Given the description of an element on the screen output the (x, y) to click on. 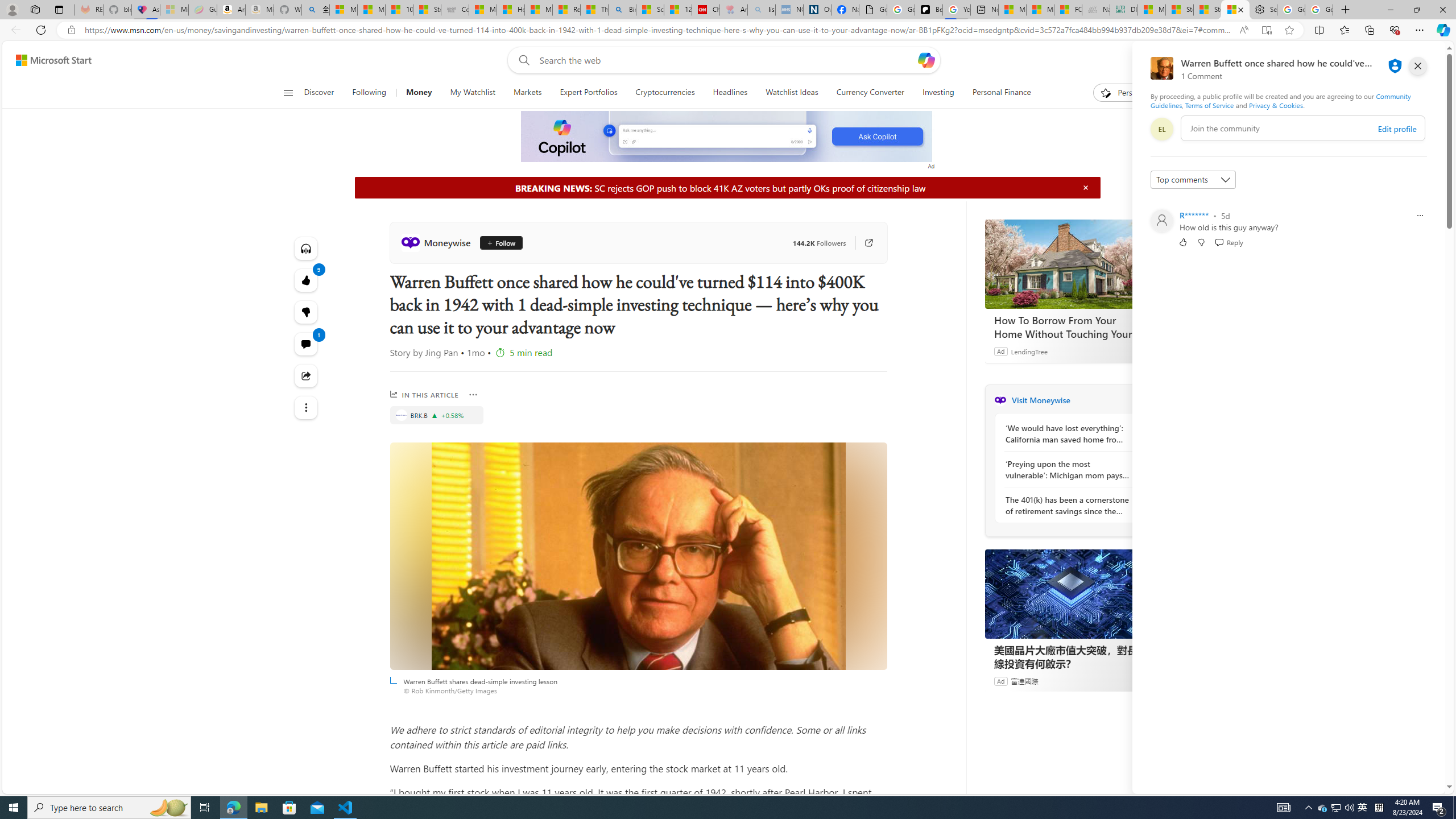
DITOGAMES AG Imprint (1123, 9)
comment-box (1302, 127)
Recipes - MSN (566, 9)
Reply Reply Comment (1228, 241)
To get missing image descriptions, open the context menu. (726, 136)
How I Got Rid of Microsoft Edge's Unnecessary Features (510, 9)
Sort comments by (1193, 179)
R******* (1193, 215)
Moneywise (438, 242)
Enter your search term (726, 59)
